Given the description of an element on the screen output the (x, y) to click on. 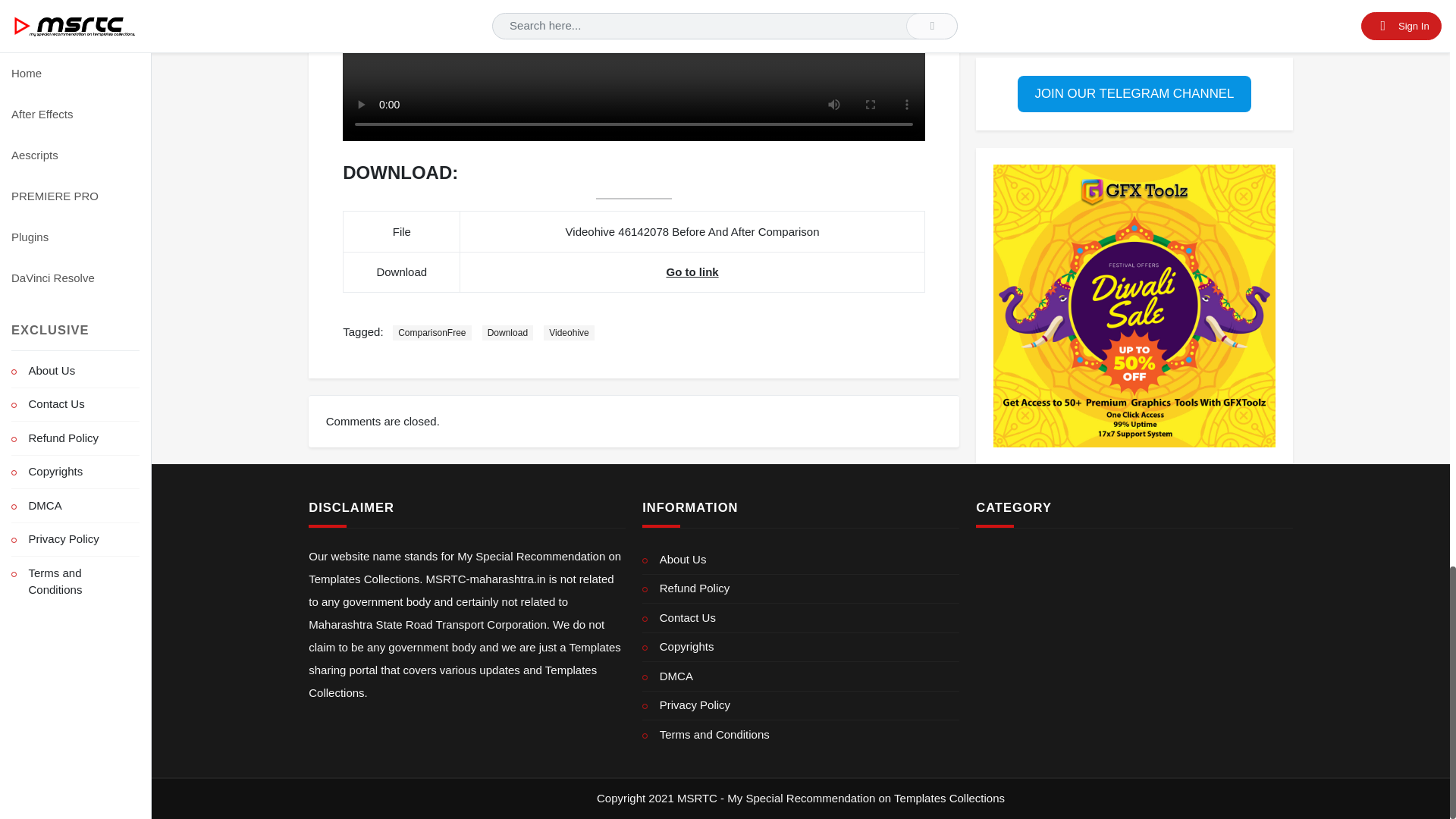
ComparisonFree (431, 332)
DMCA (800, 676)
Refund Policy (800, 588)
Privacy Policy (800, 705)
Copyrights (800, 647)
Download (506, 332)
Contact Us (800, 618)
Videohive (568, 332)
Go to link (691, 271)
About Us (800, 559)
